Given the description of an element on the screen output the (x, y) to click on. 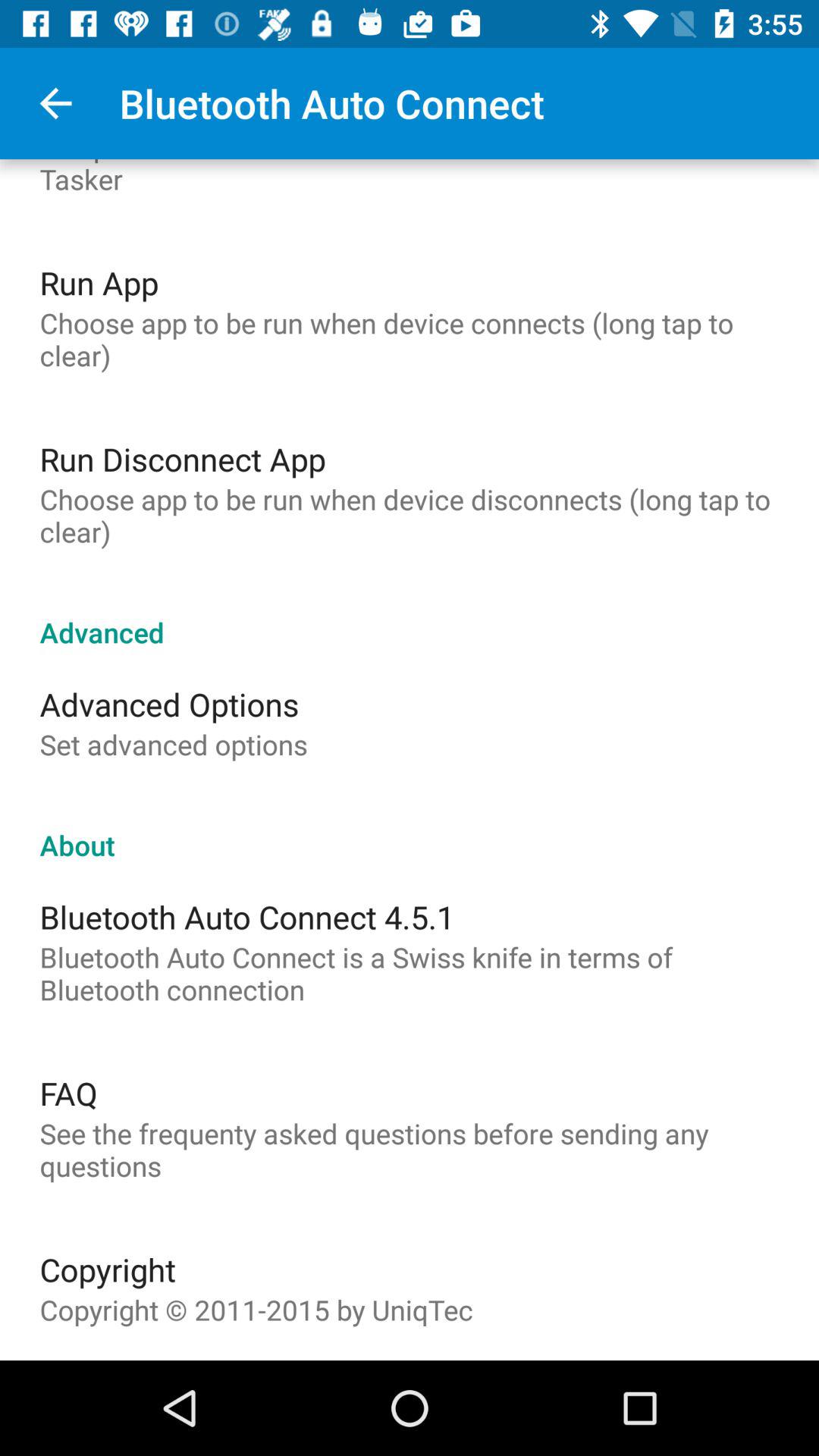
press the item next to bluetooth auto connect icon (55, 103)
